Given the description of an element on the screen output the (x, y) to click on. 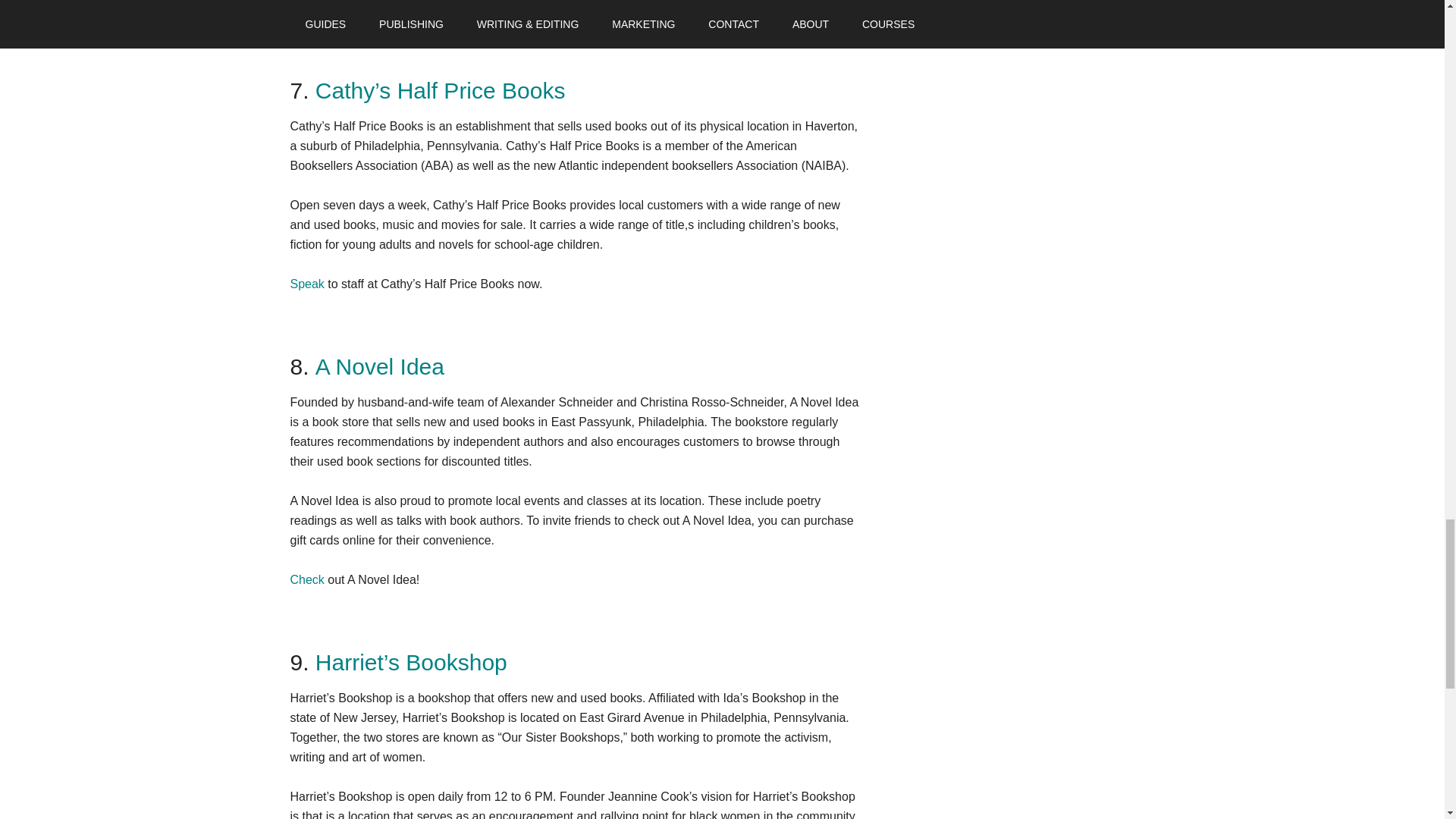
A Novel Idea (379, 366)
Check (306, 579)
Speak (306, 283)
Find (301, 7)
